Given the description of an element on the screen output the (x, y) to click on. 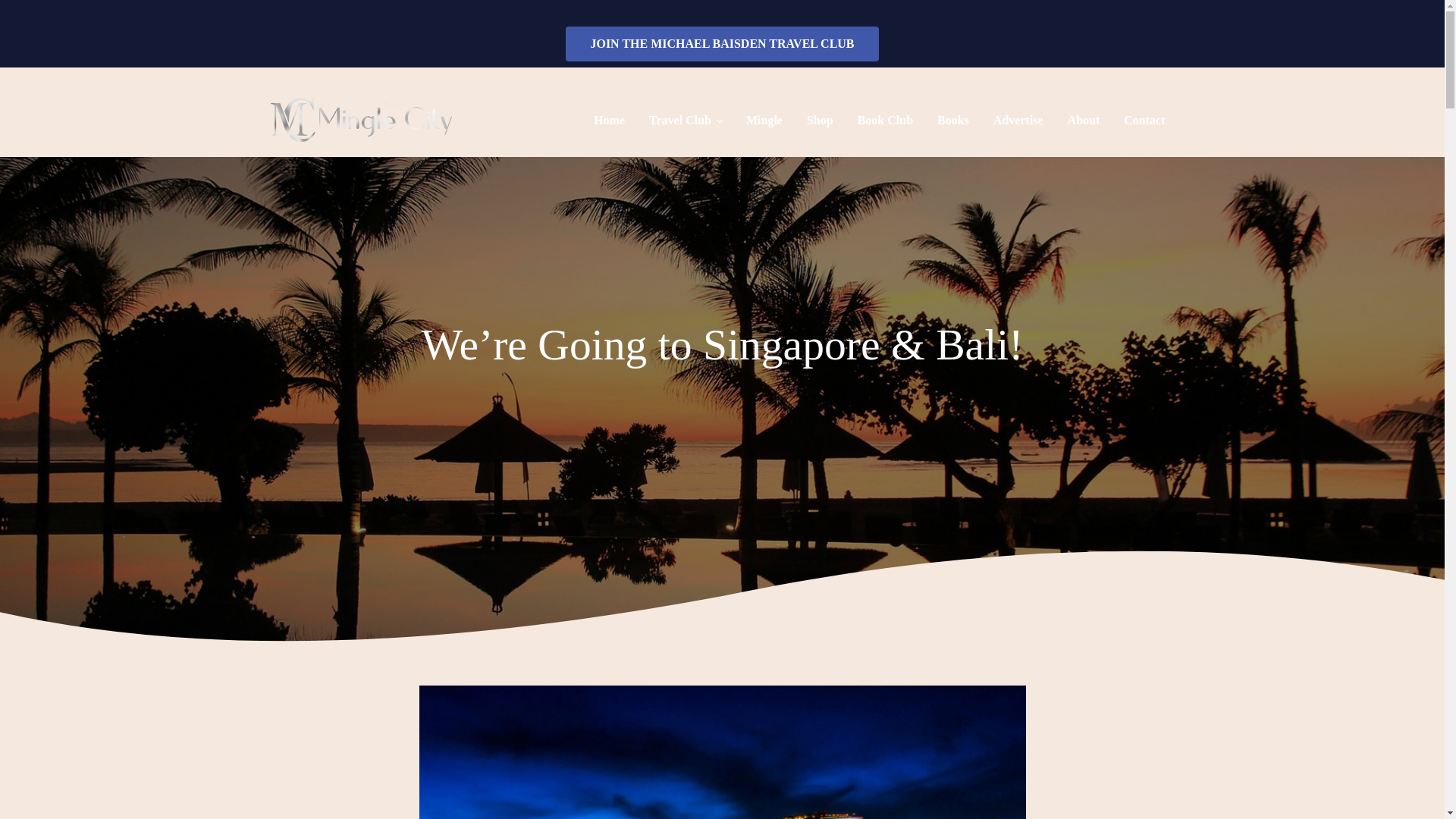
Mingle (763, 120)
Home (608, 120)
Contact (1144, 120)
Book Club (884, 120)
JOIN THE MICHAEL BAISDEN TRAVEL CLUB (721, 43)
About (1083, 120)
Travel Club (685, 120)
Books (952, 120)
Shop (819, 120)
Advertise (1018, 120)
